Given the description of an element on the screen output the (x, y) to click on. 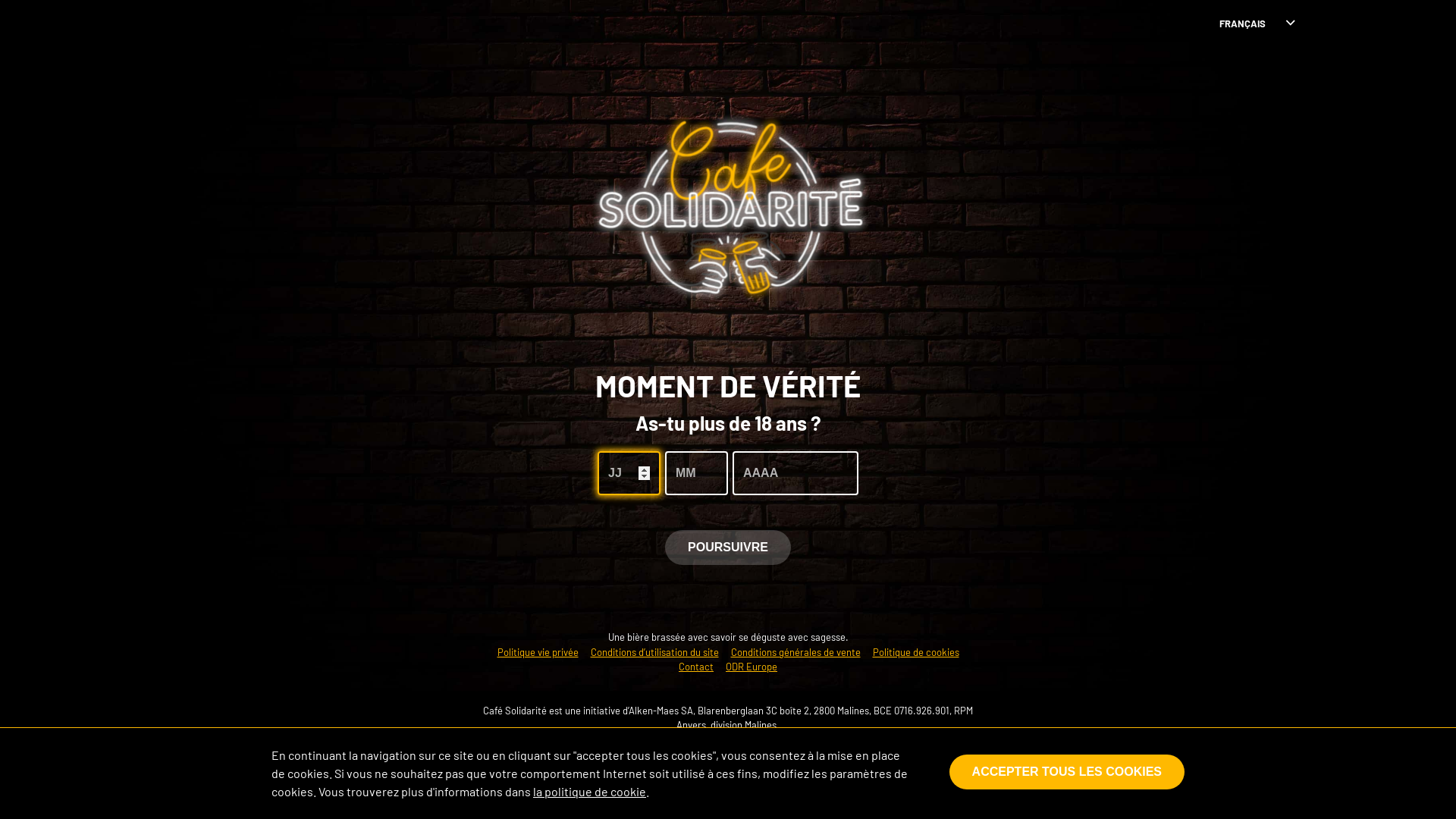
Politique de cookies Element type: text (915, 652)
Contact Element type: text (695, 666)
ACCEPTER TOUS LES COOKIES Element type: text (1066, 770)
ODR Europe Element type: text (751, 666)
la politique de cookie Element type: text (589, 791)
Poursuivre Element type: text (727, 546)
